Given the description of an element on the screen output the (x, y) to click on. 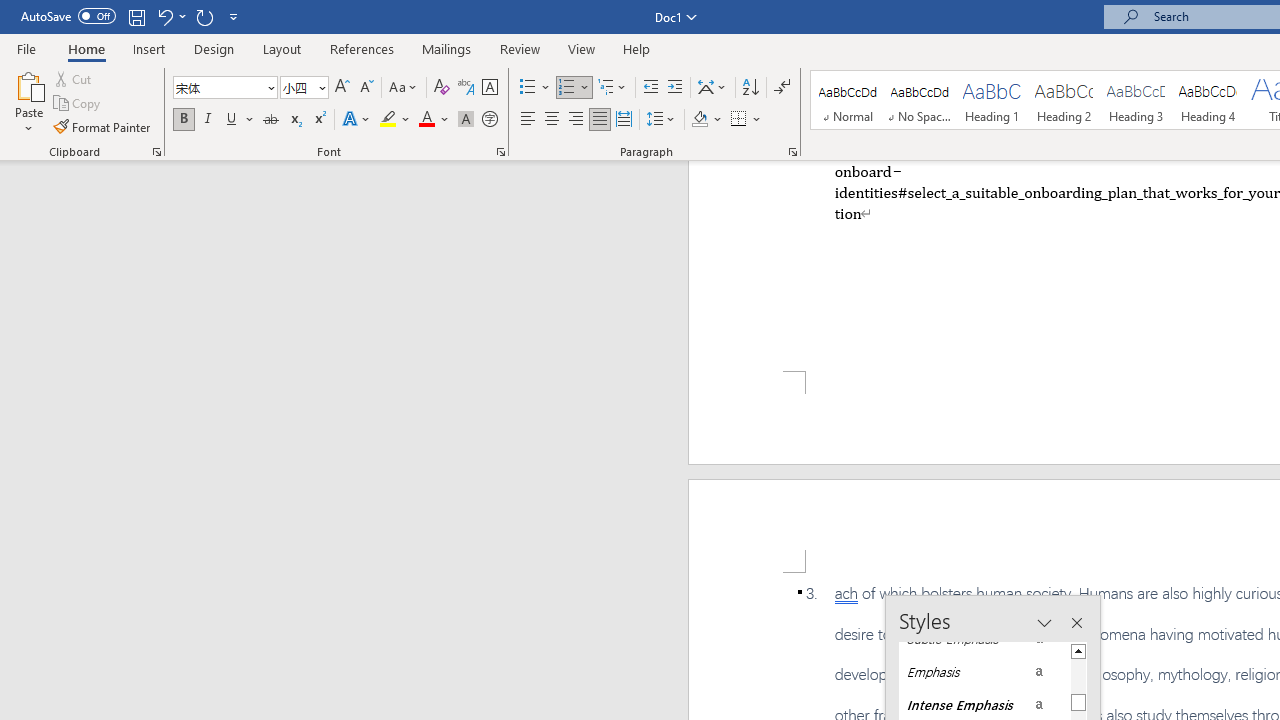
Emphasis (984, 672)
